Given the description of an element on the screen output the (x, y) to click on. 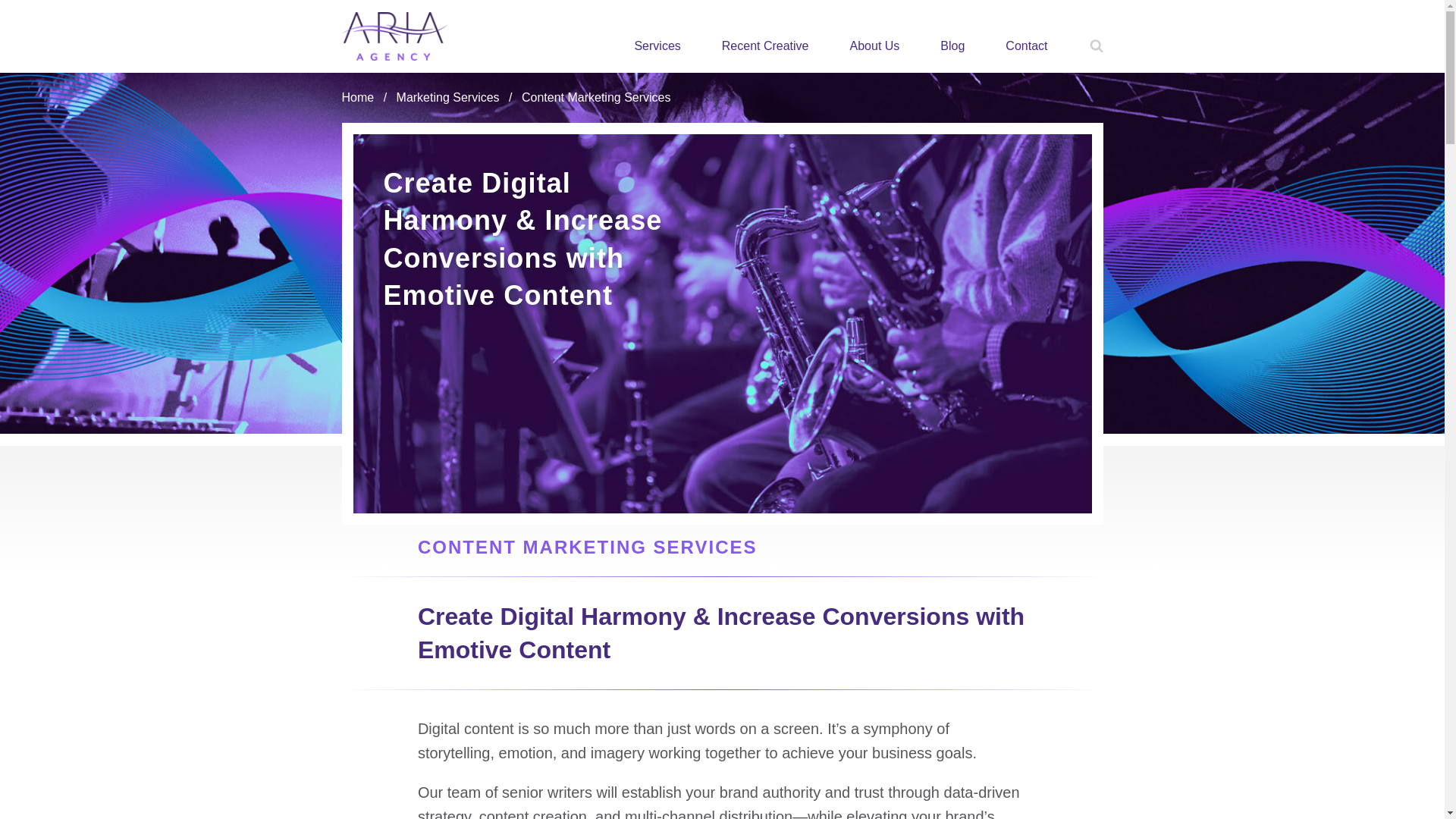
About Us (875, 45)
Contact (1025, 45)
Marketing Services (447, 97)
Home (357, 97)
Recent Creative (765, 45)
Services (656, 45)
Blog (952, 45)
